Given the description of an element on the screen output the (x, y) to click on. 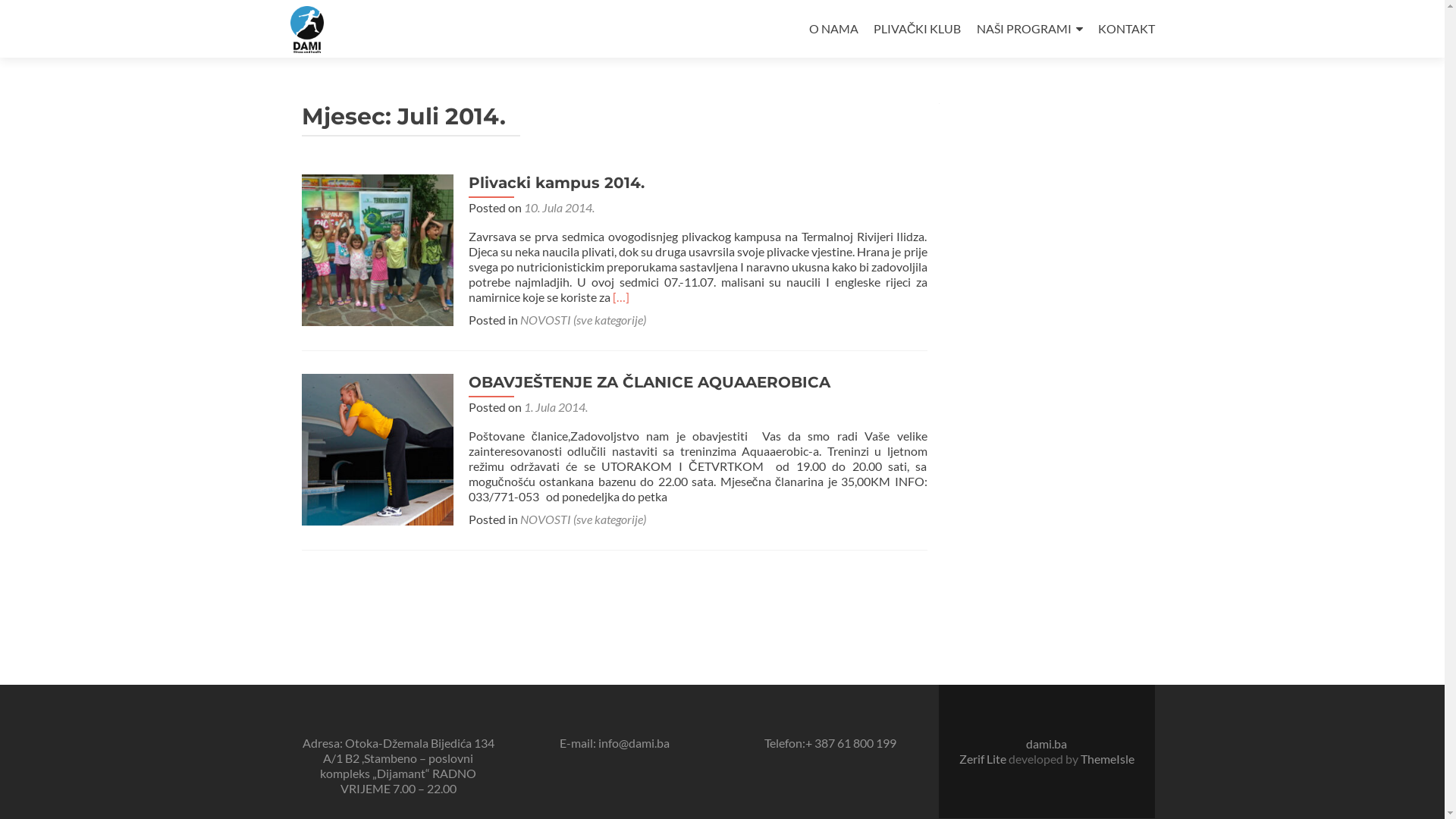
O NAMA Element type: text (833, 28)
1. Jula 2014. Element type: text (554, 406)
KONTAKT Element type: text (1126, 28)
Zerif Lite Element type: text (982, 758)
Plivacki kampus 2014. Element type: text (556, 182)
10. Jula 2014. Element type: text (558, 207)
ThemeIsle Element type: text (1106, 758)
Plivacki kampus 2014. Element type: hover (377, 248)
NOVOSTI (sve kategorije) Element type: text (583, 319)
NOVOSTI (sve kategorije) Element type: text (583, 518)
